Given the description of an element on the screen output the (x, y) to click on. 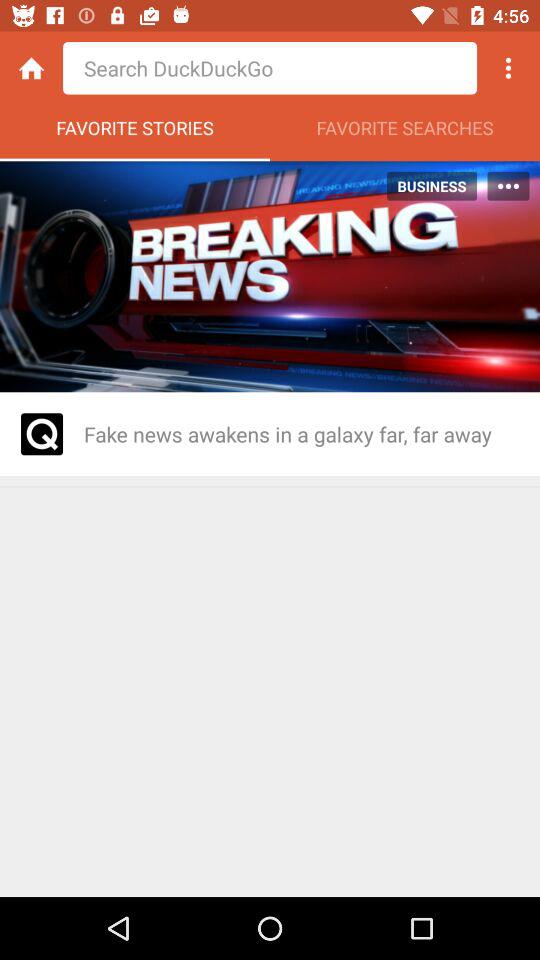
home button (31, 68)
